Given the description of an element on the screen output the (x, y) to click on. 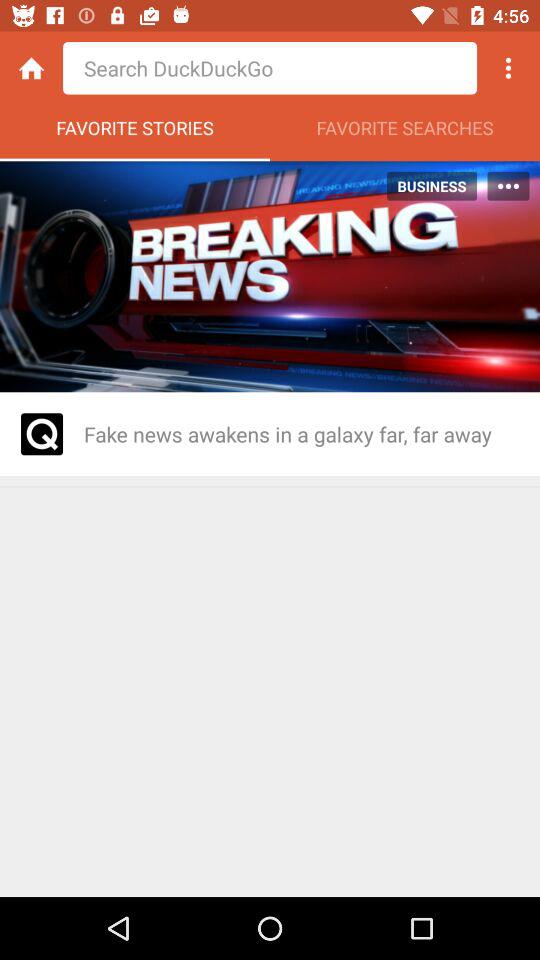
home button (31, 68)
